Given the description of an element on the screen output the (x, y) to click on. 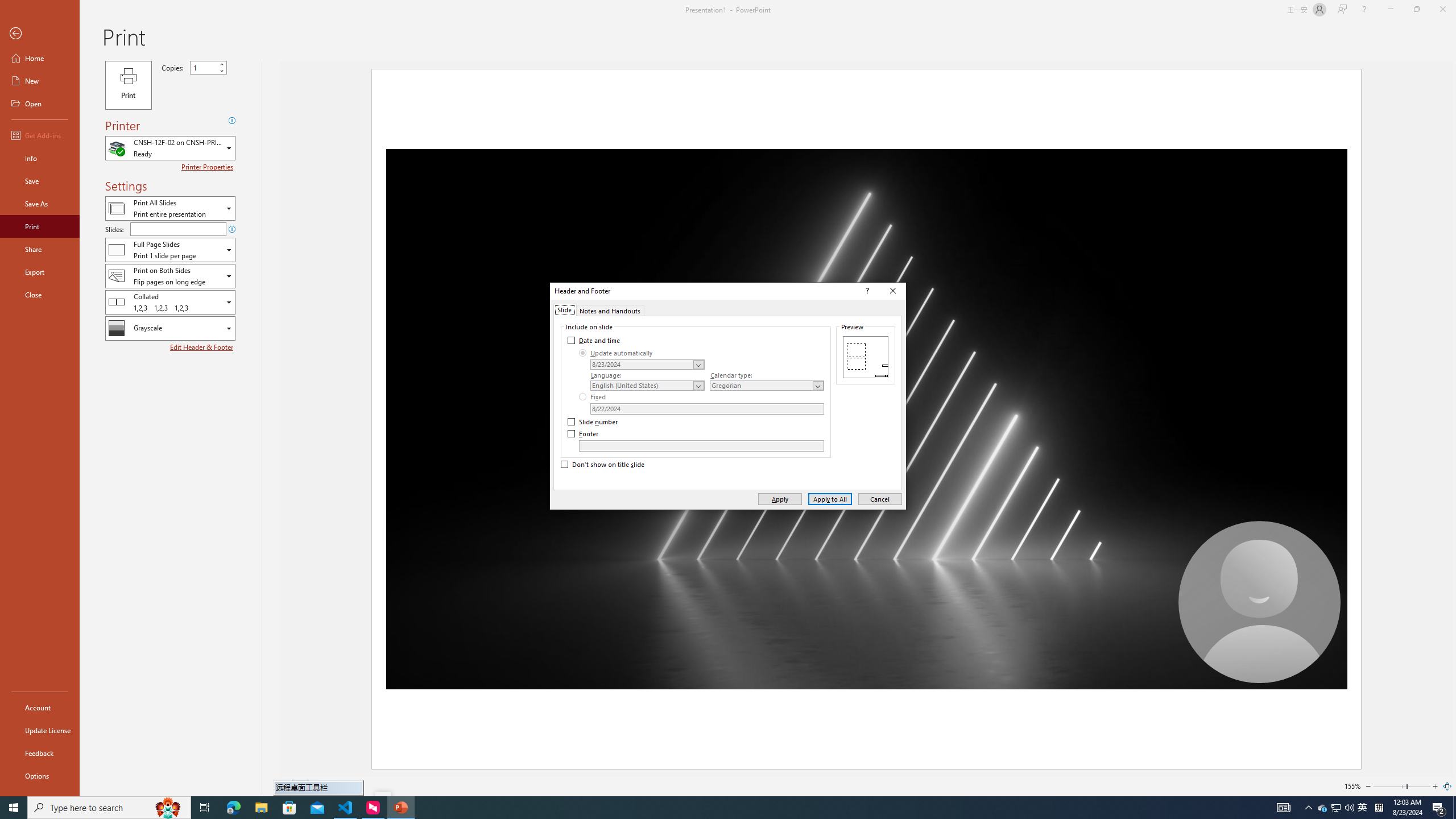
Back (40, 33)
Language (646, 385)
Print What (169, 208)
Footer (583, 433)
Slides (178, 228)
Apply to All (830, 498)
Update automatically (616, 352)
Next Page (328, 786)
Fixed Date (706, 408)
